Given the description of an element on the screen output the (x, y) to click on. 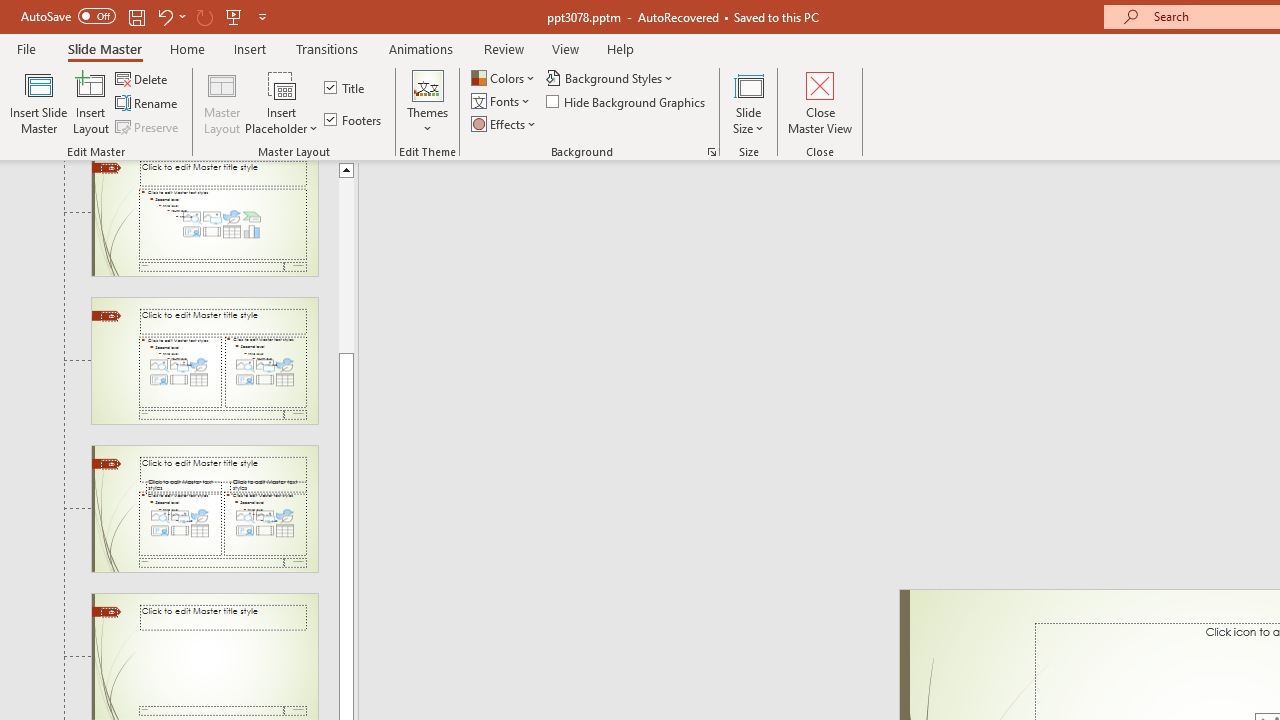
Content (282, 84)
Close Master View (820, 102)
Footers (354, 119)
Fonts (502, 101)
Slide Two Content Layout: used by no slides (204, 361)
Preserve (148, 126)
Insert Layout (91, 102)
